Given the description of an element on the screen output the (x, y) to click on. 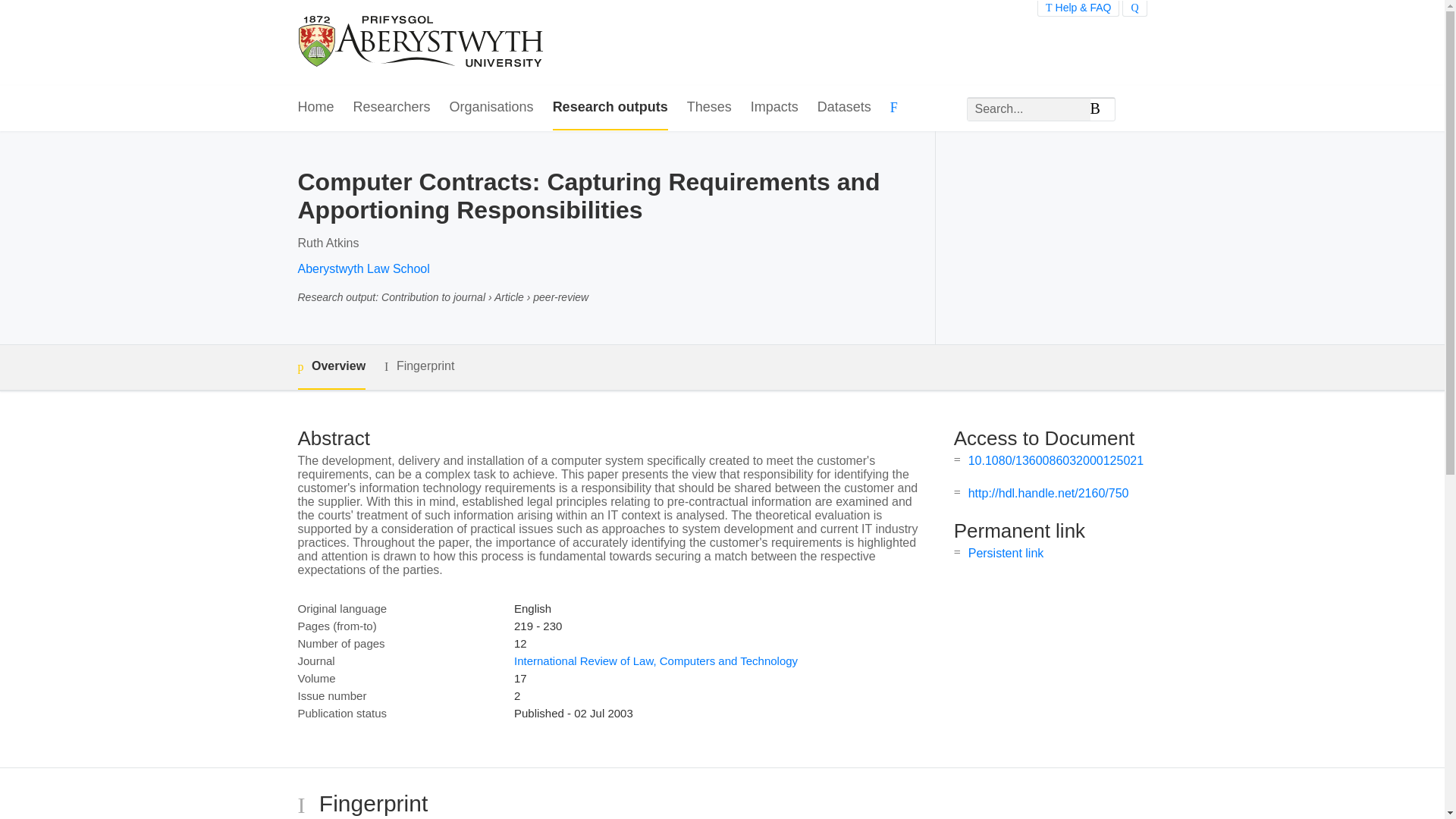
International Review of Law, Computers and Technology (655, 660)
Organisations (491, 107)
Aberystwyth Law School (363, 268)
Overview (331, 366)
Research outputs (610, 107)
Datasets (843, 107)
Theses (709, 107)
Persistent link (1005, 553)
Aberystwyth Research Portal Home (422, 42)
Fingerprint (419, 366)
